Given the description of an element on the screen output the (x, y) to click on. 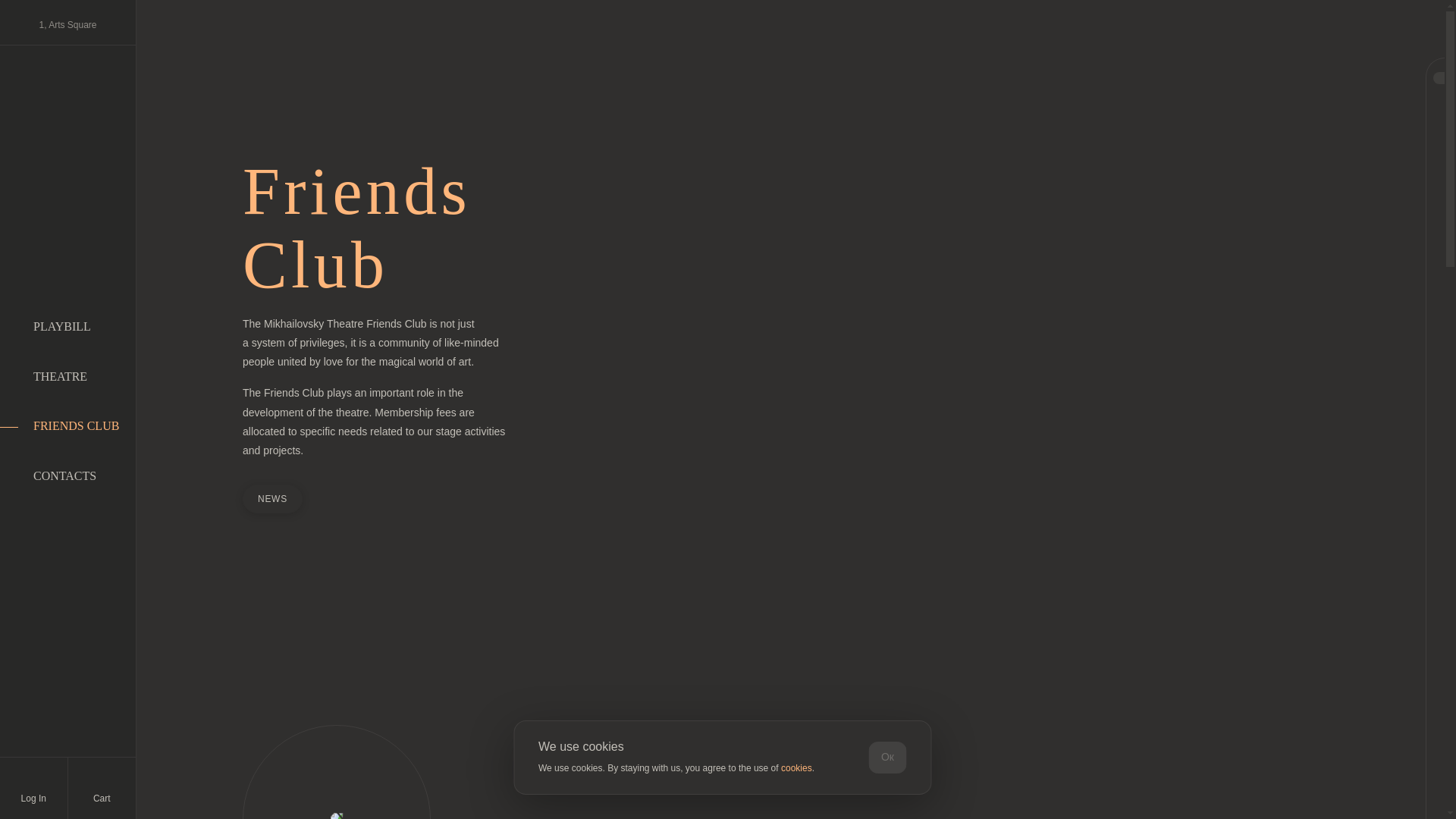
NEWS (272, 498)
1, Arts Square (67, 22)
CONTACTS (64, 475)
Send (721, 695)
PLAYBILL (61, 326)
FRIENDS CLUB (76, 425)
Log In (33, 788)
Cart (102, 788)
THEATRE (60, 376)
